Given the description of an element on the screen output the (x, y) to click on. 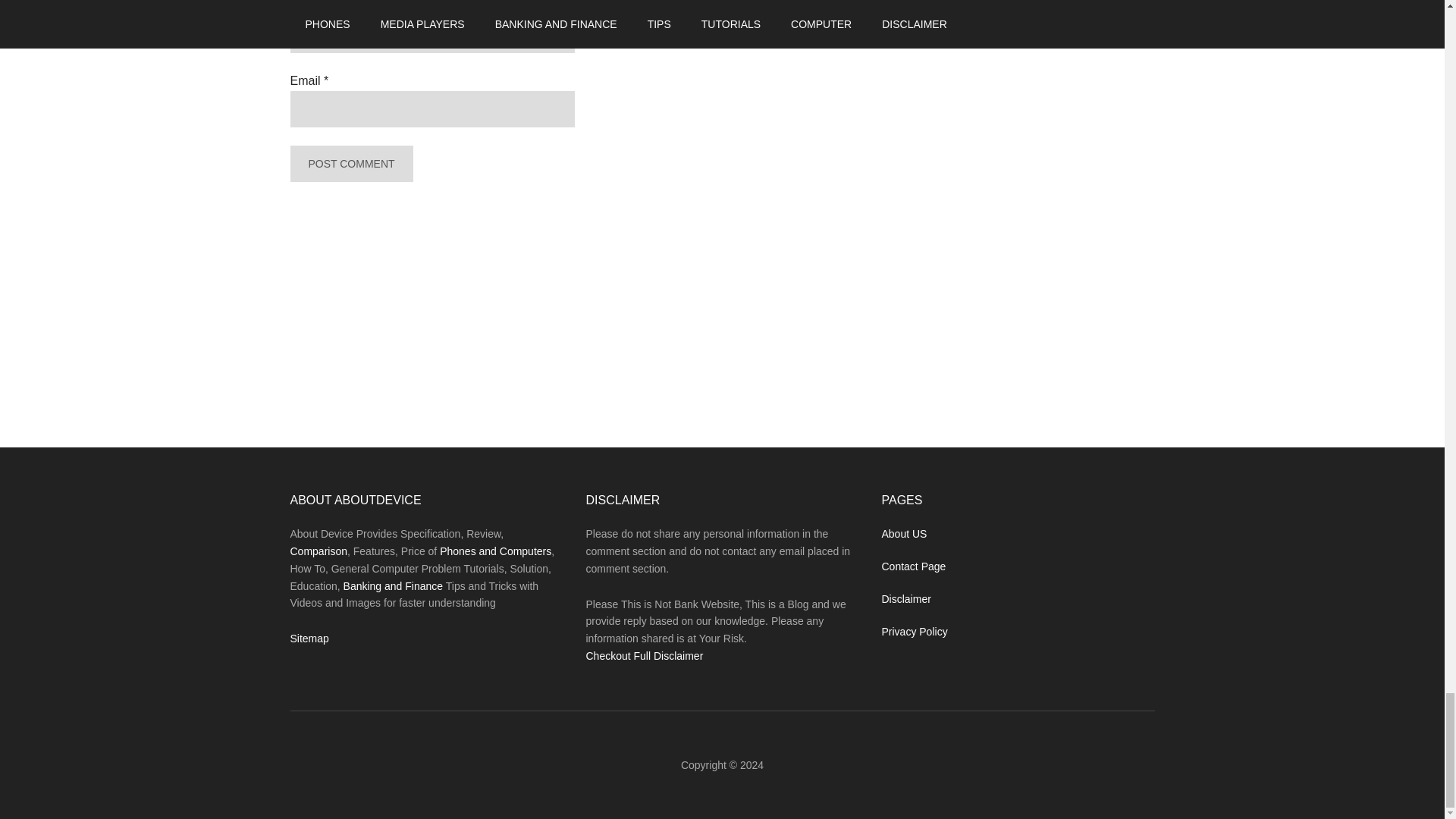
Post Comment (350, 163)
